Given the description of an element on the screen output the (x, y) to click on. 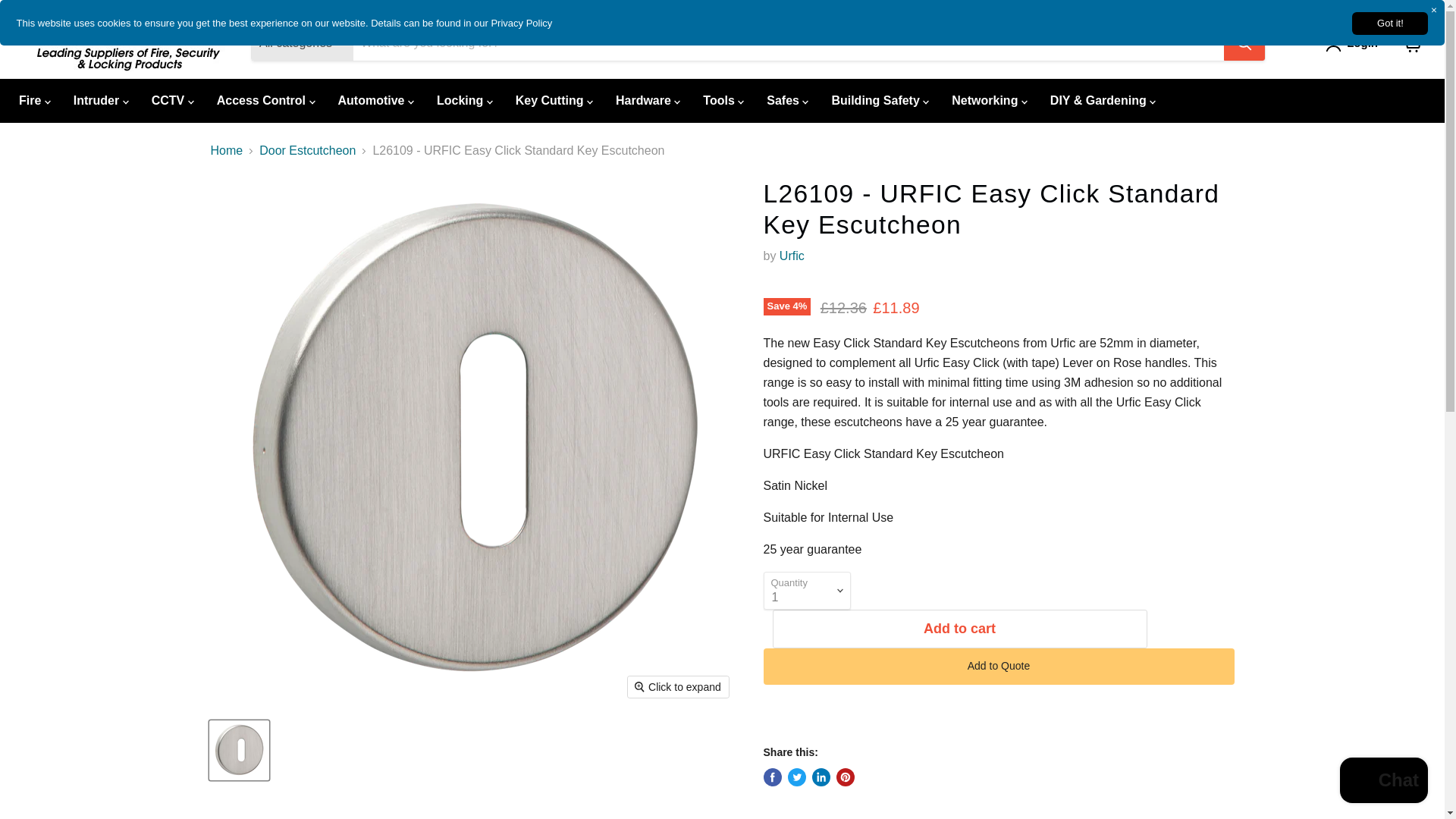
View cart (1411, 42)
Urfic (791, 255)
Shopify online store chat (1383, 781)
Login (1362, 43)
